Given the description of an element on the screen output the (x, y) to click on. 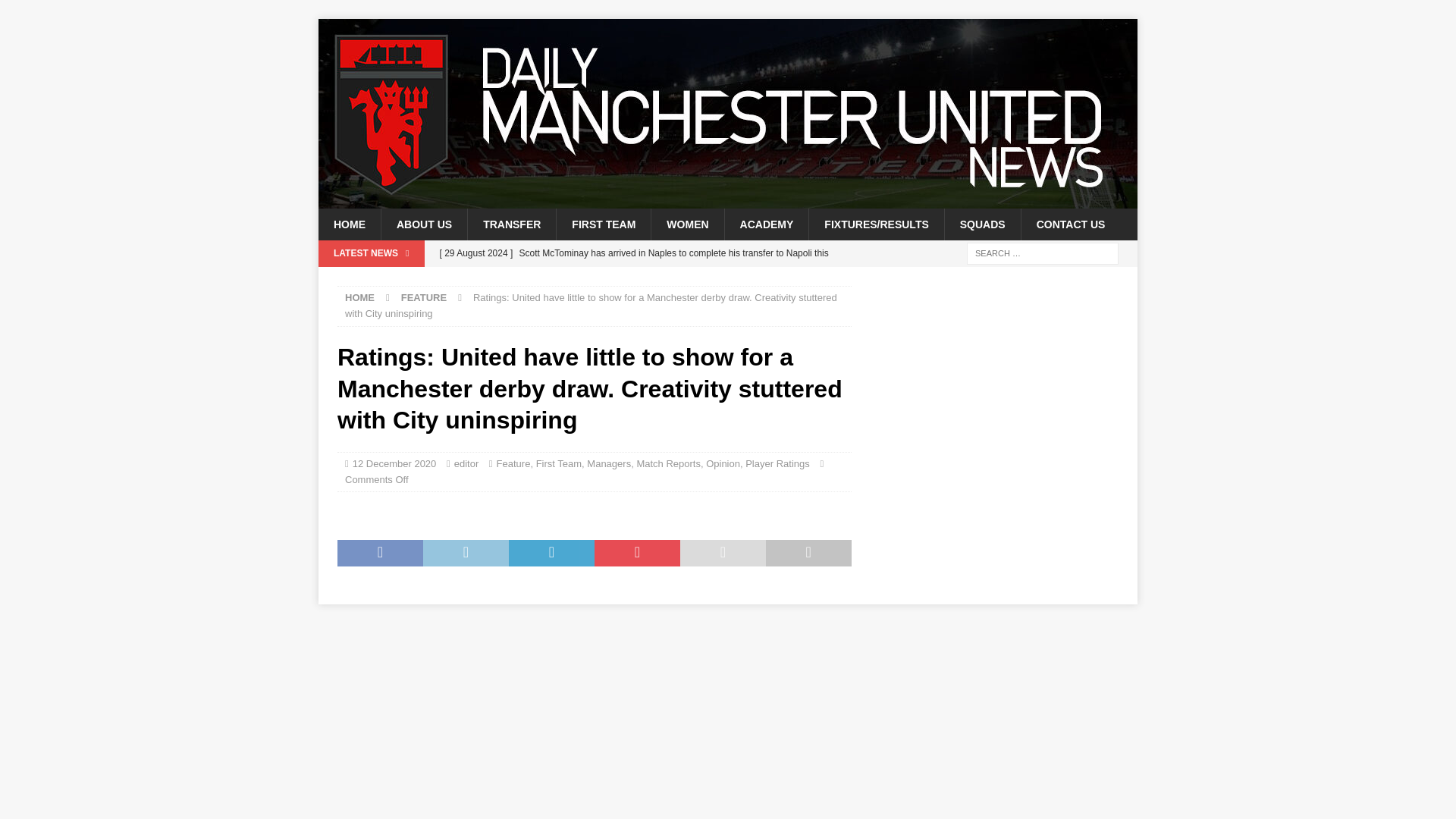
Search (56, 11)
HOME (349, 224)
SQUADS (981, 224)
Managers (608, 463)
editor (466, 463)
Player Ratings (777, 463)
MUFCLatest.com (727, 200)
Opinion (722, 463)
12 December 2020 (394, 463)
